Given the description of an element on the screen output the (x, y) to click on. 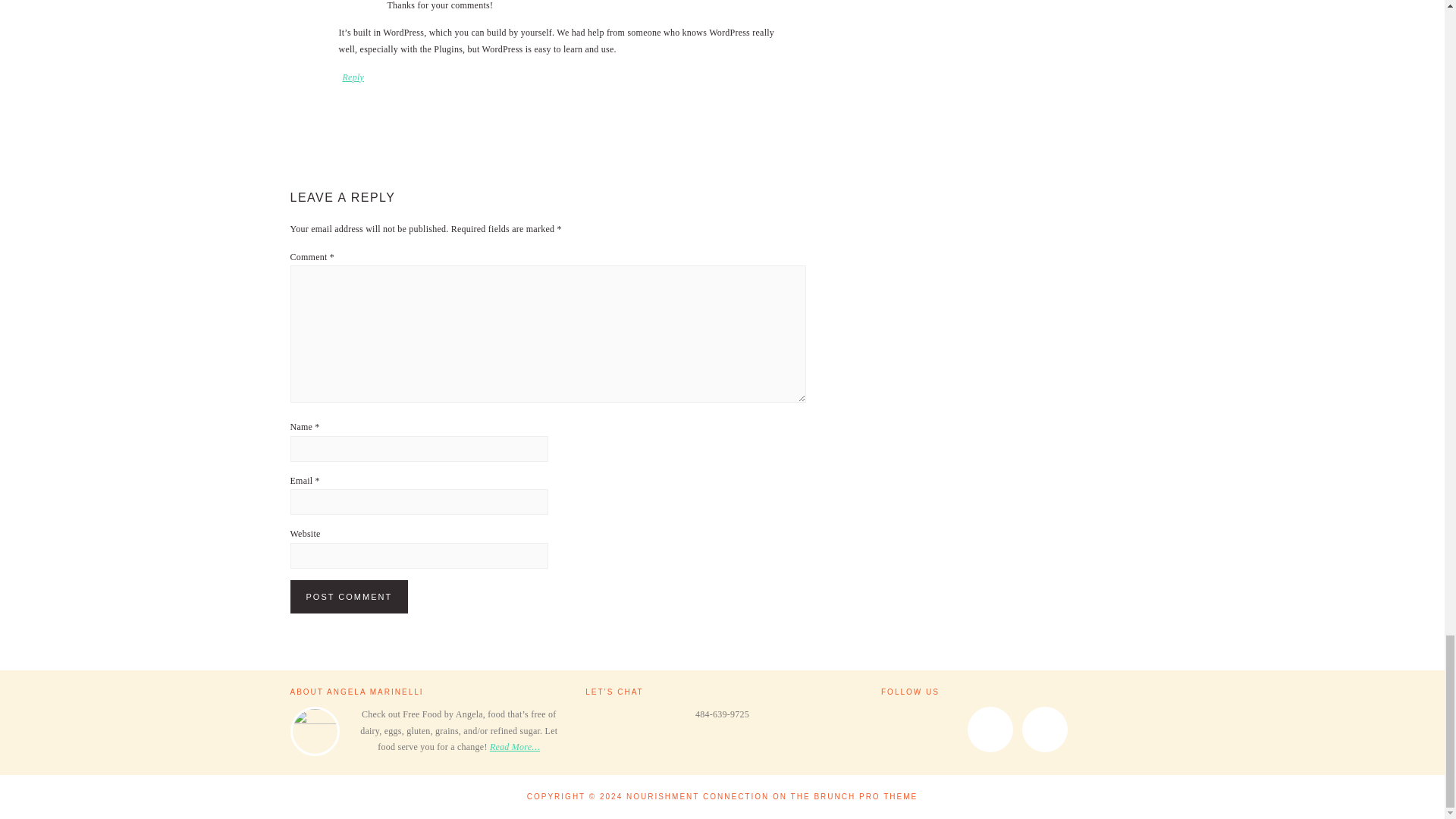
Post Comment (348, 596)
